Given the description of an element on the screen output the (x, y) to click on. 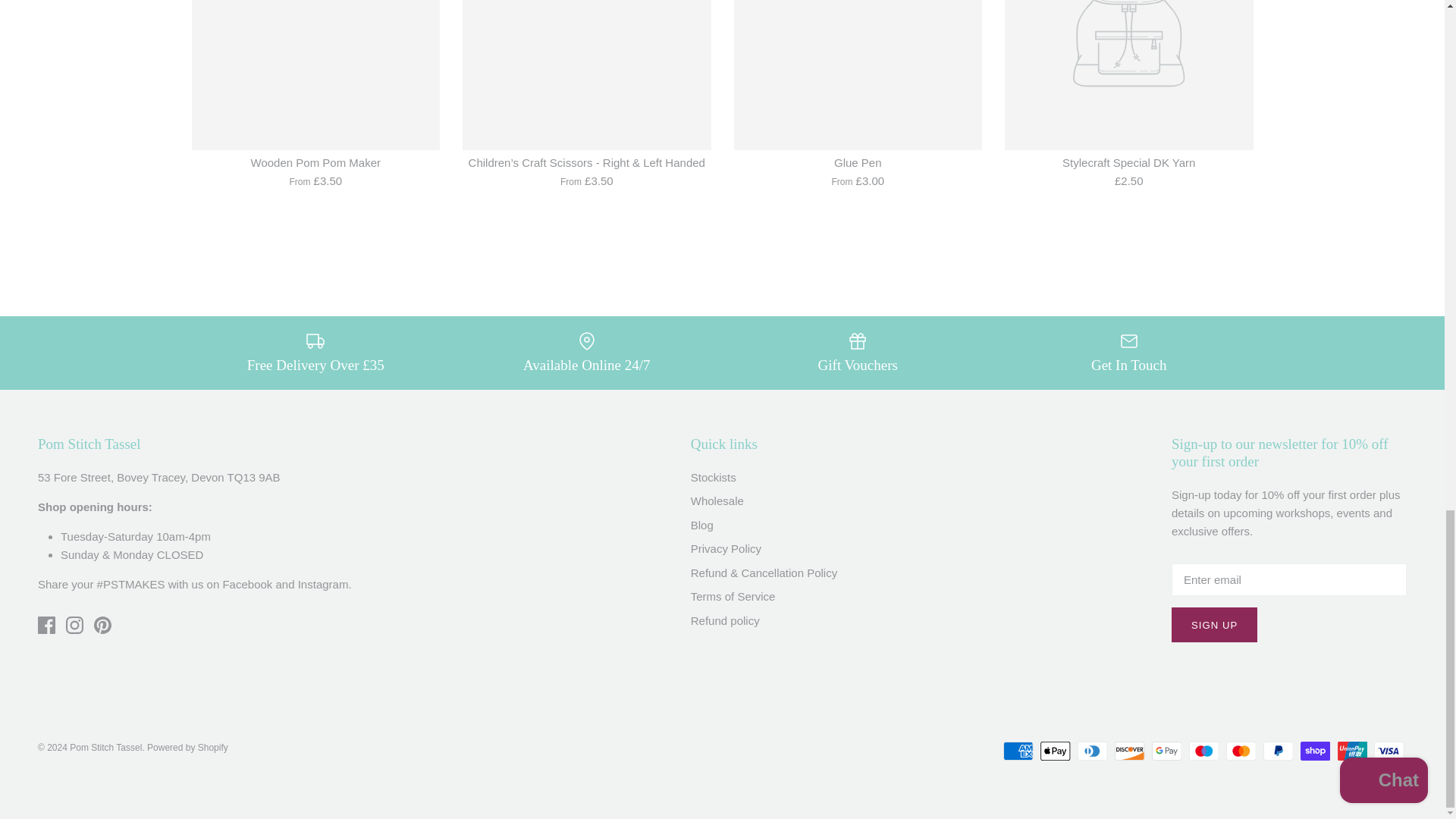
Pinterest (103, 624)
Pom Stitch Tassel Facebook (247, 584)
Facebook (46, 624)
Instagram (73, 624)
